Given the description of an element on the screen output the (x, y) to click on. 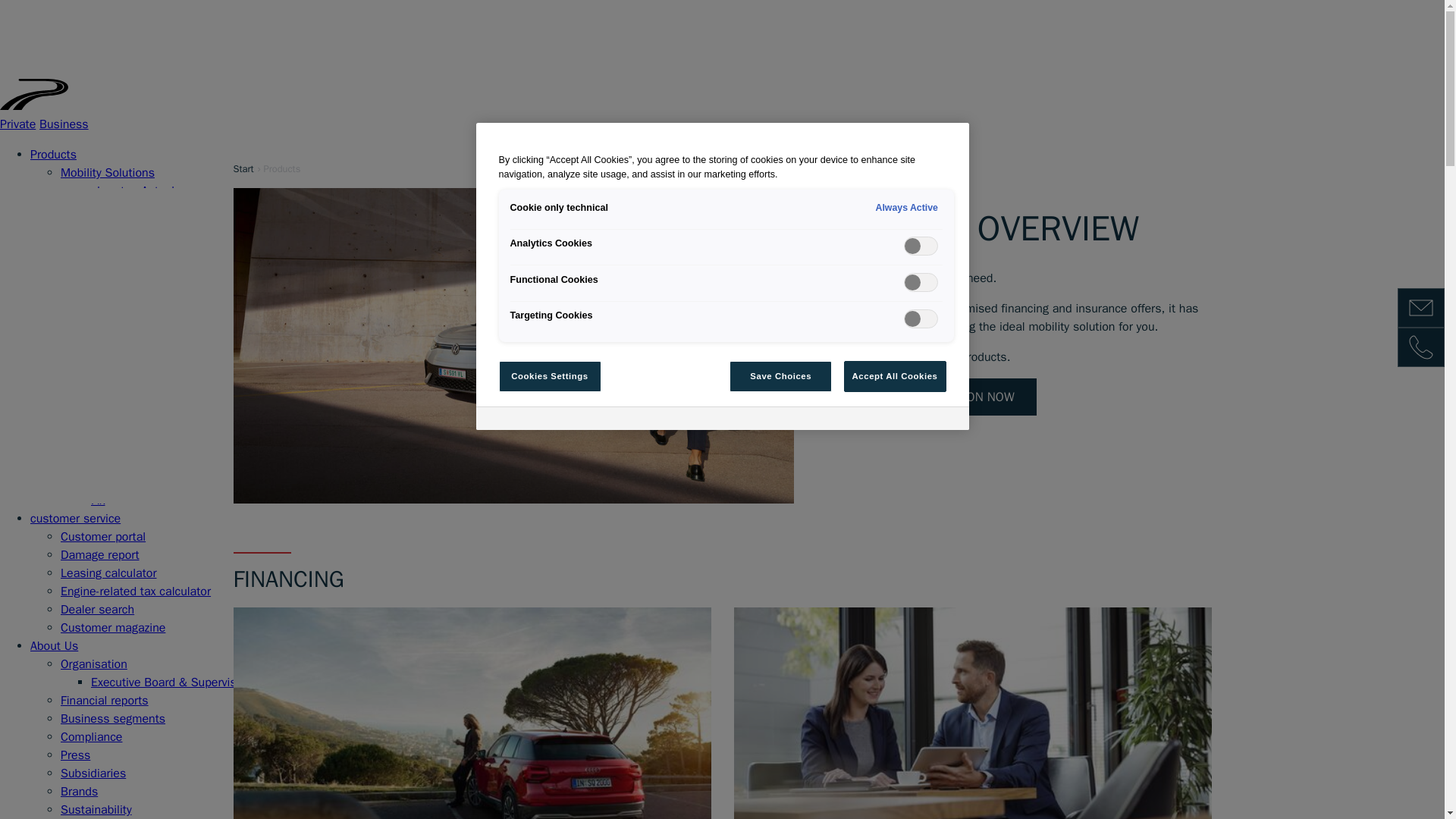
Start (242, 168)
REQUEST CONSULTATION NOW (926, 397)
2010 Porschebank foto christian kasper 0078 (972, 713)
ASQ2 181008 1 (471, 713)
Cookies Settings (550, 377)
